Given the description of an element on the screen output the (x, y) to click on. 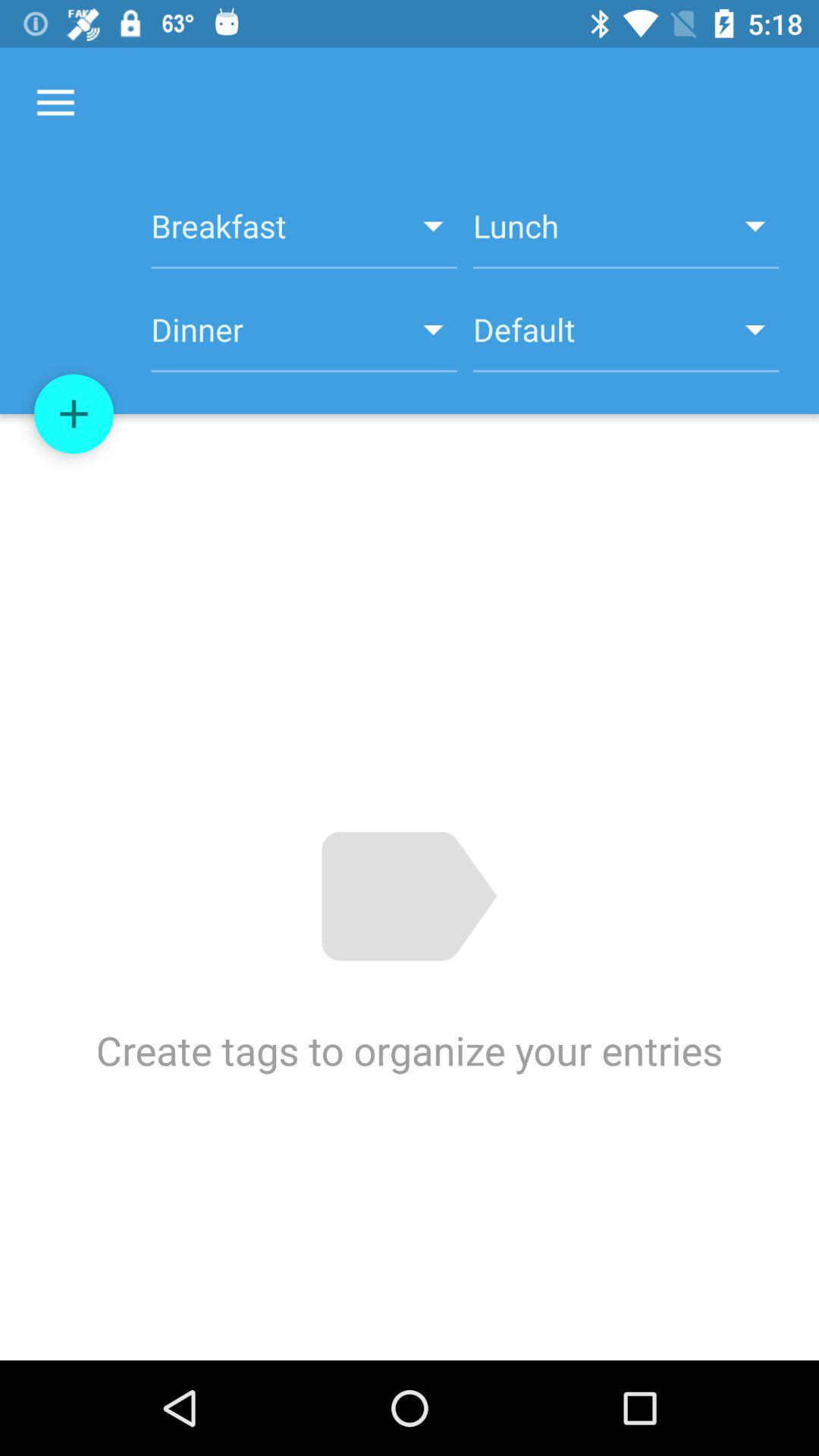
press breakfast (304, 234)
